Given the description of an element on the screen output the (x, y) to click on. 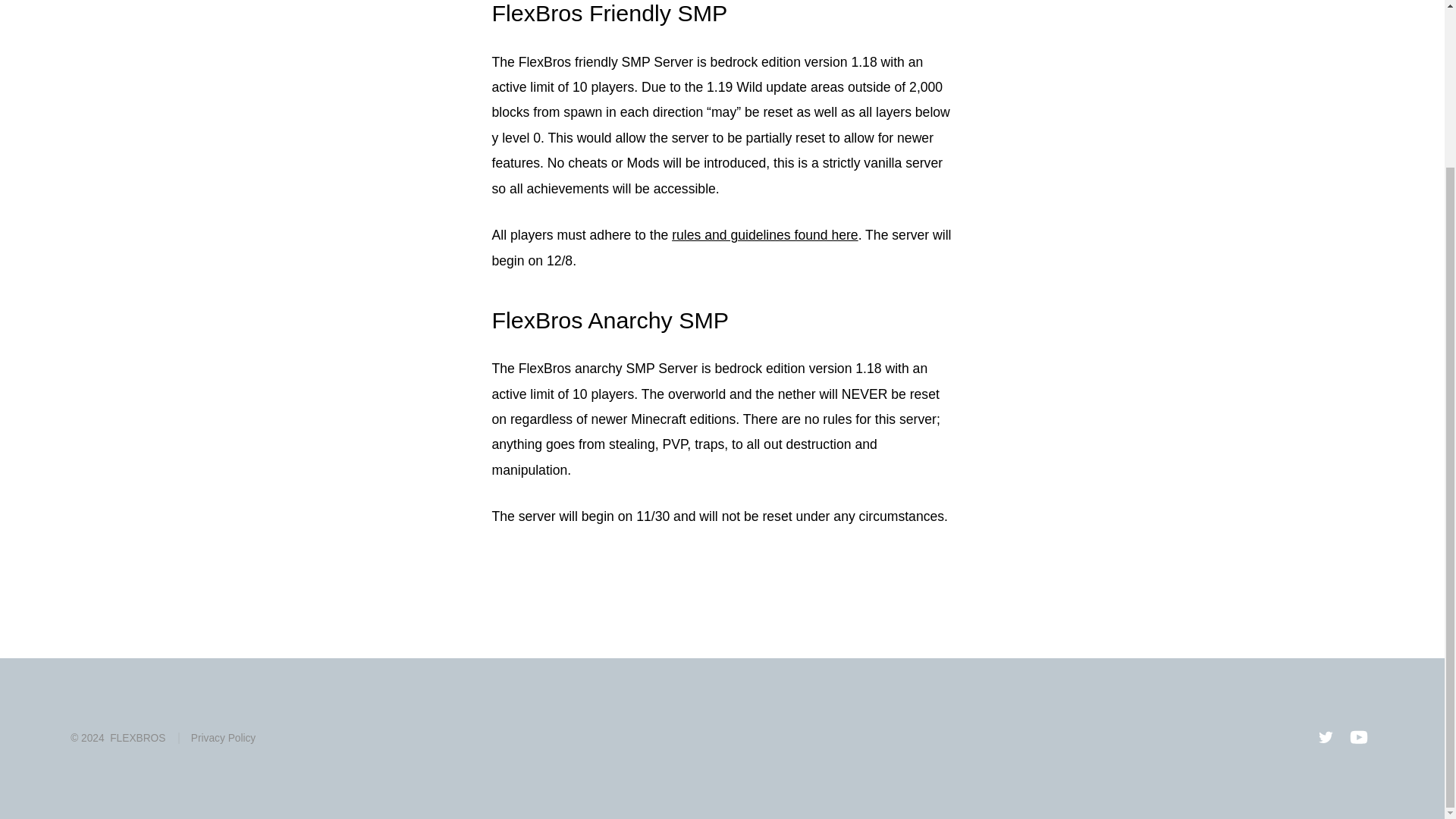
rules and guidelines found here (765, 234)
Open Twitter in a new tab (1324, 736)
Open YouTube in a new tab (1358, 736)
Privacy Policy (217, 737)
